Given the description of an element on the screen output the (x, y) to click on. 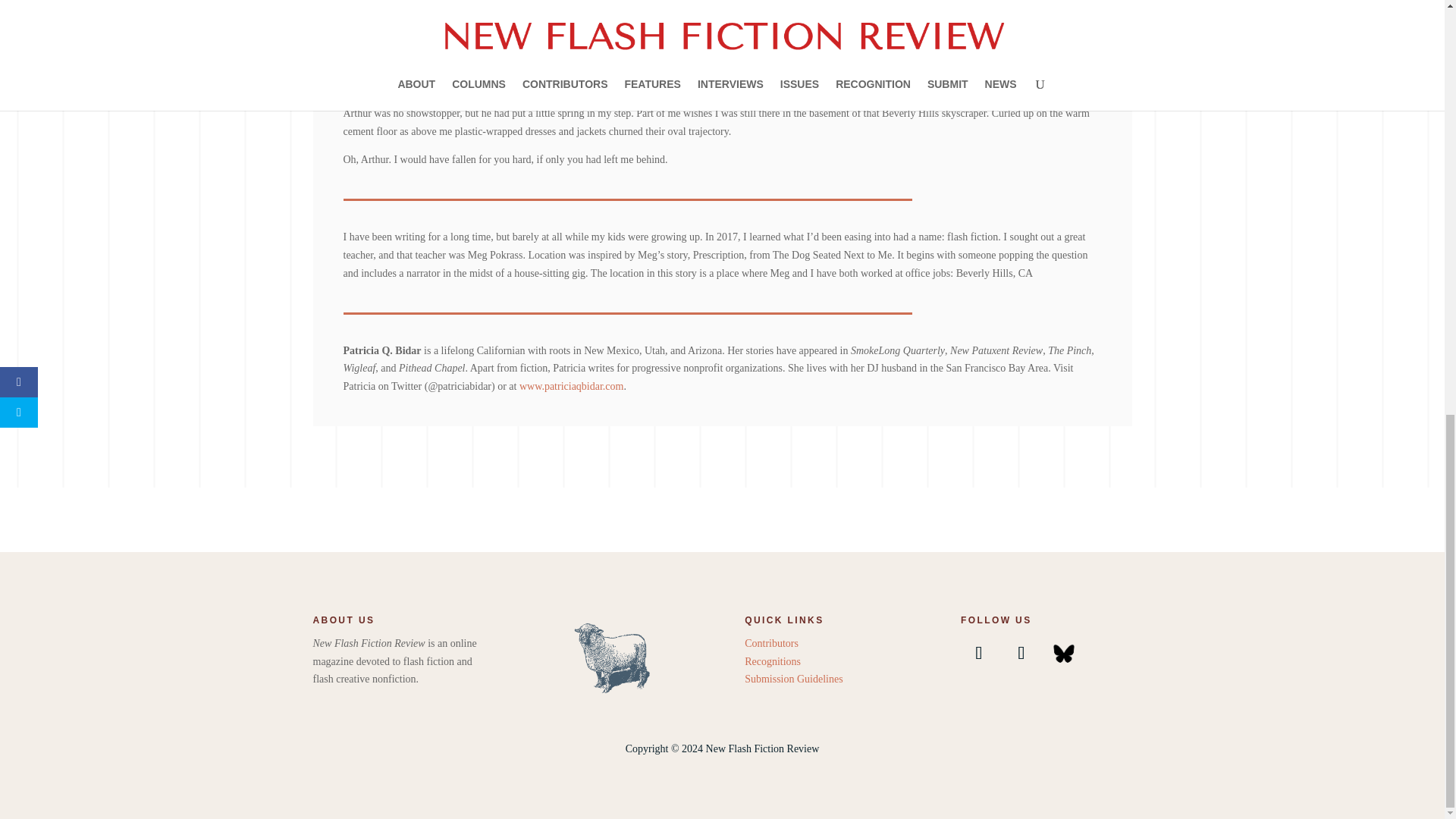
Contributors (770, 643)
55 (615, 656)
Follow on RSS (1063, 652)
Follow on Facebook (978, 652)
Submission Guidelines (793, 678)
Follow on X (1021, 652)
www.patriciaqbidar.com (571, 386)
Recognitions (772, 661)
